Given the description of an element on the screen output the (x, y) to click on. 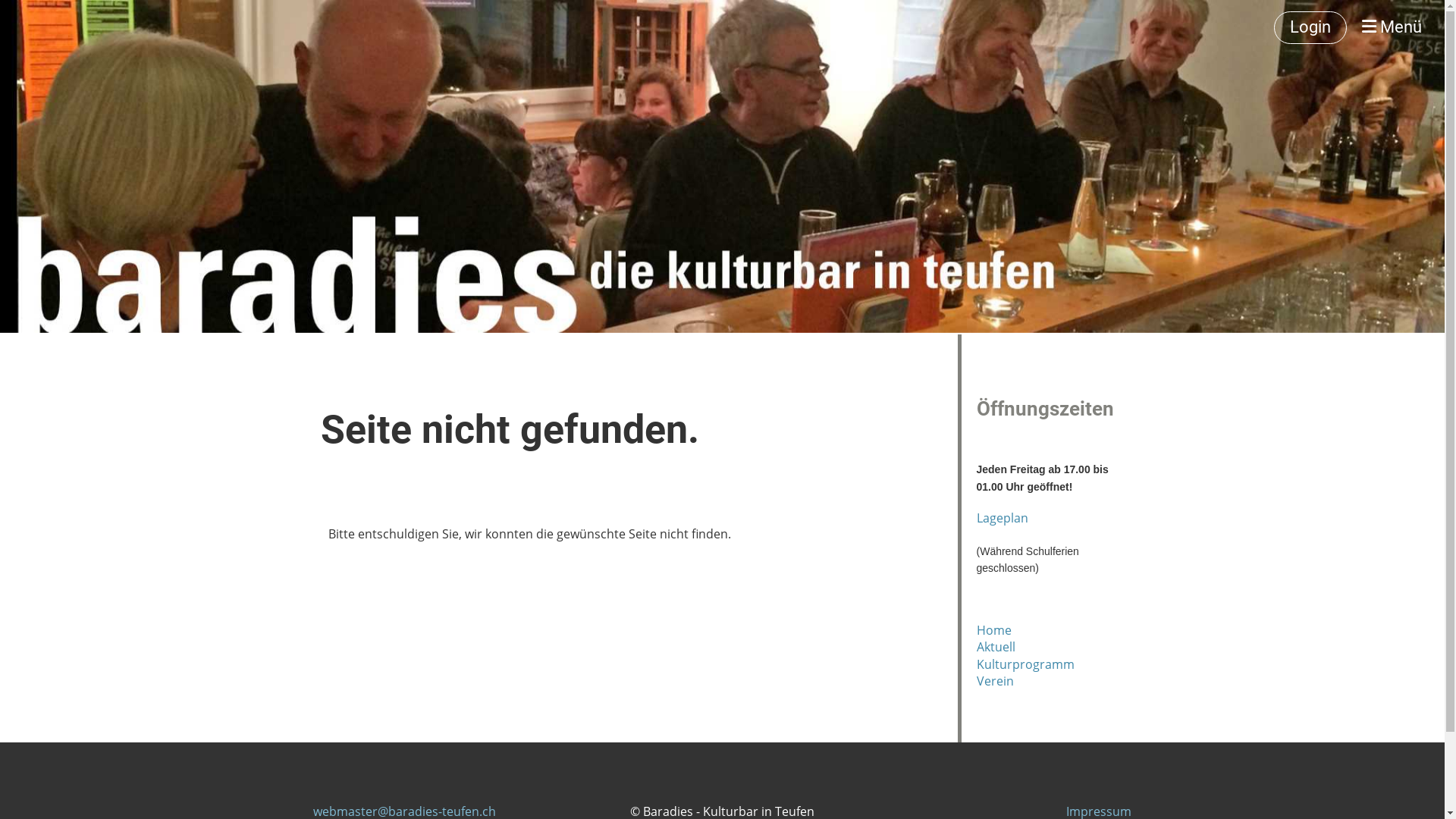
Aktuell Element type: text (995, 646)
Login Element type: text (1310, 27)
Home Element type: text (993, 629)
Lageplan Element type: text (1002, 517)
Verein Element type: text (994, 680)
Kulturprogramm Element type: text (1025, 663)
